Given the description of an element on the screen output the (x, y) to click on. 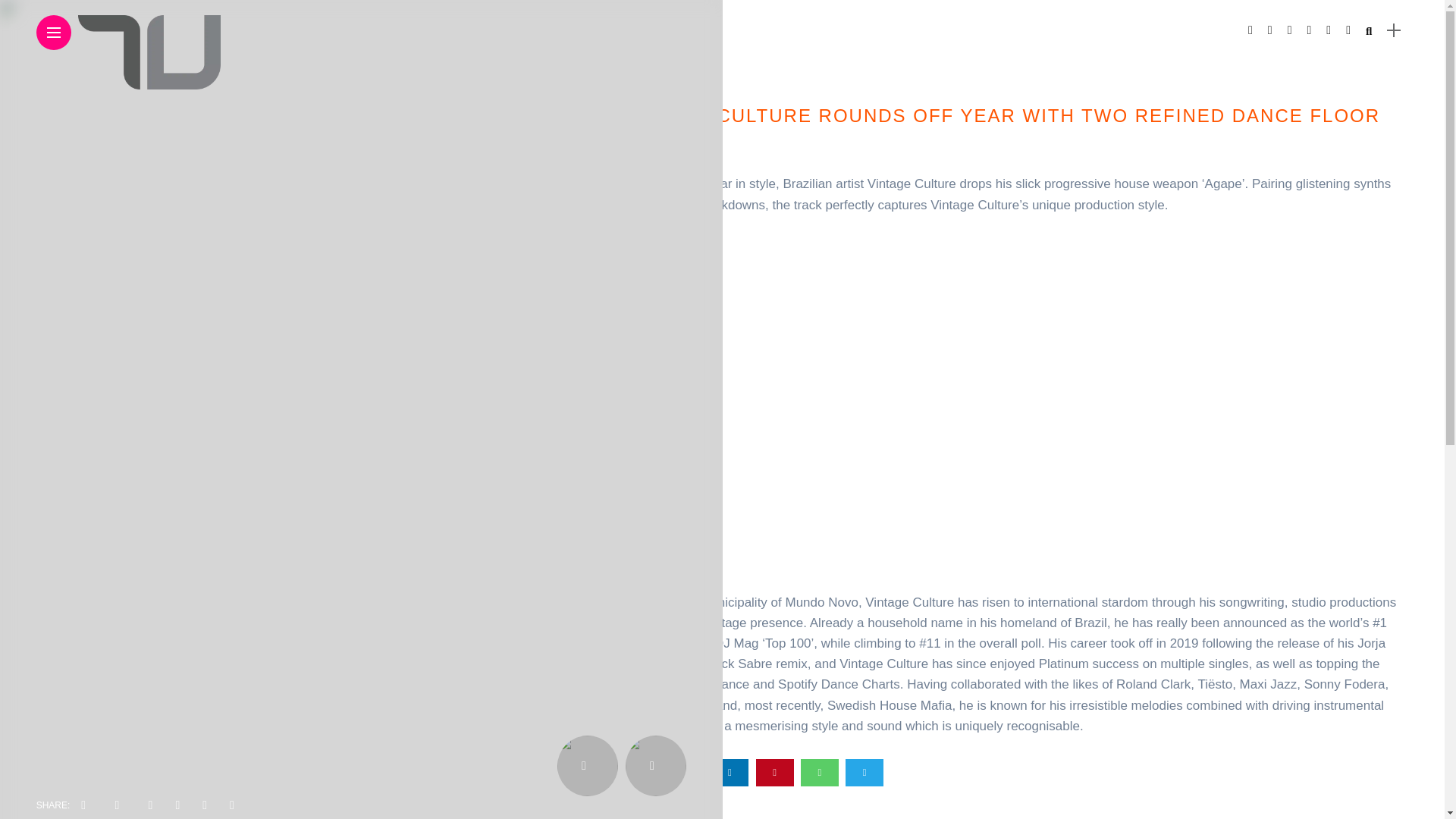
facebook (640, 772)
NEWS (645, 78)
